Given the description of an element on the screen output the (x, y) to click on. 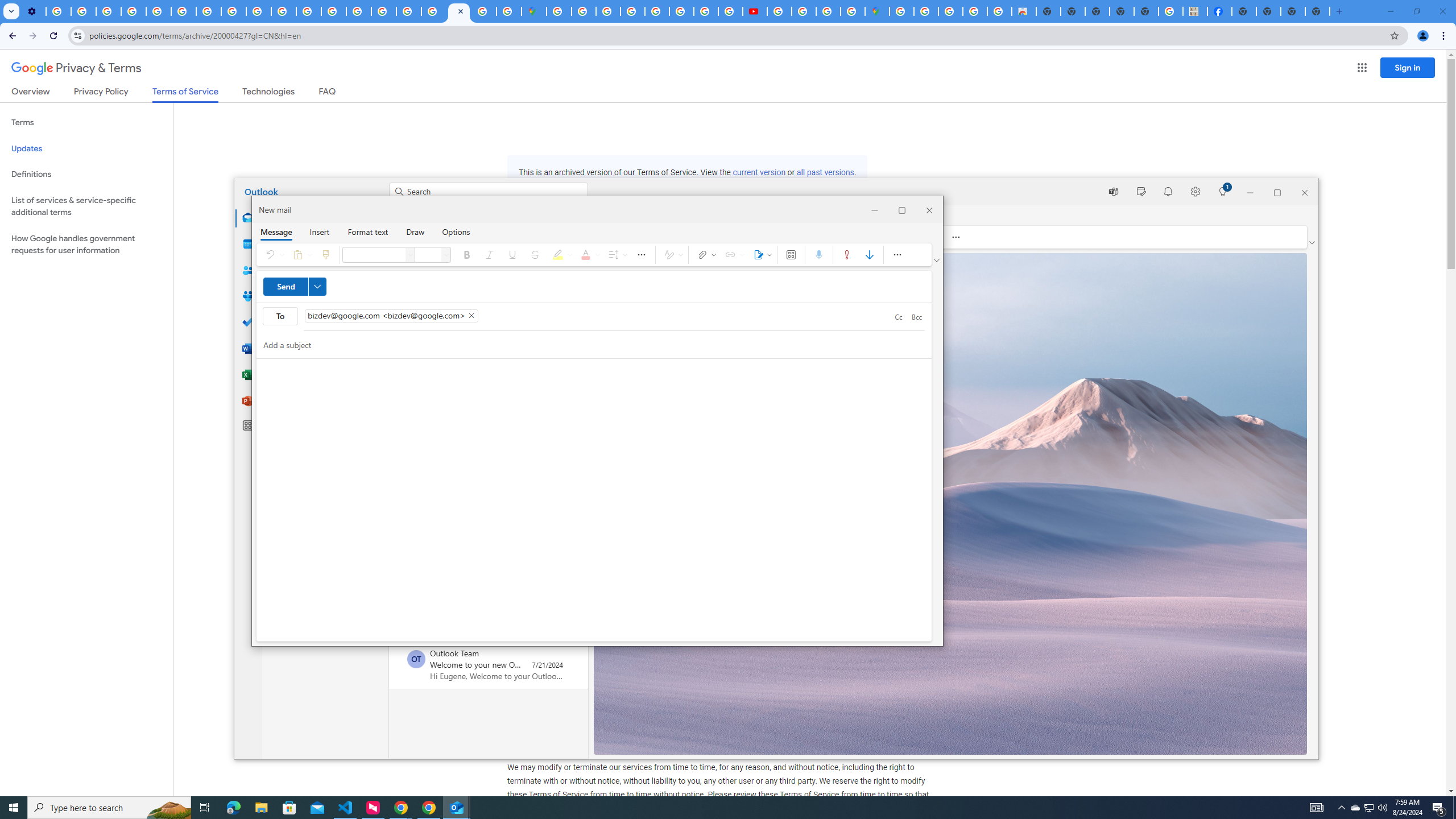
Q2790: 100% (1382, 807)
bizdev@google.com <bizdev@google.com> (391, 315)
Search highlights icon opens search home window (167, 807)
Styles (671, 254)
Insert (319, 231)
Cc (898, 316)
Teams (1112, 191)
File Explorer (261, 807)
Ribbon display options (936, 260)
Microsoft Edge (233, 807)
Google Chrome - 2 running windows (400, 807)
Format text (368, 231)
Spacing (616, 254)
